Given the description of an element on the screen output the (x, y) to click on. 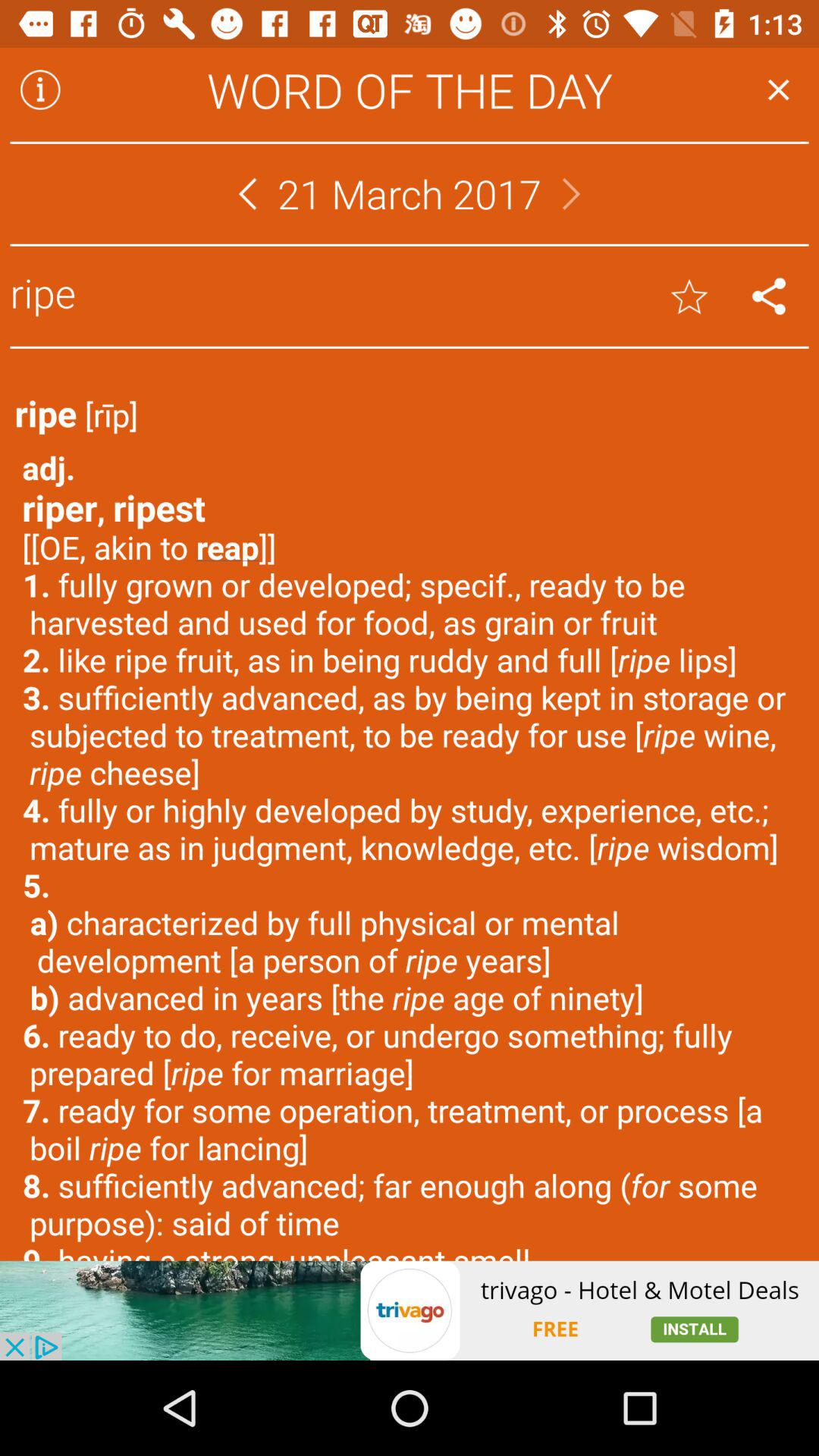
icon (40, 89)
